Given the description of an element on the screen output the (x, y) to click on. 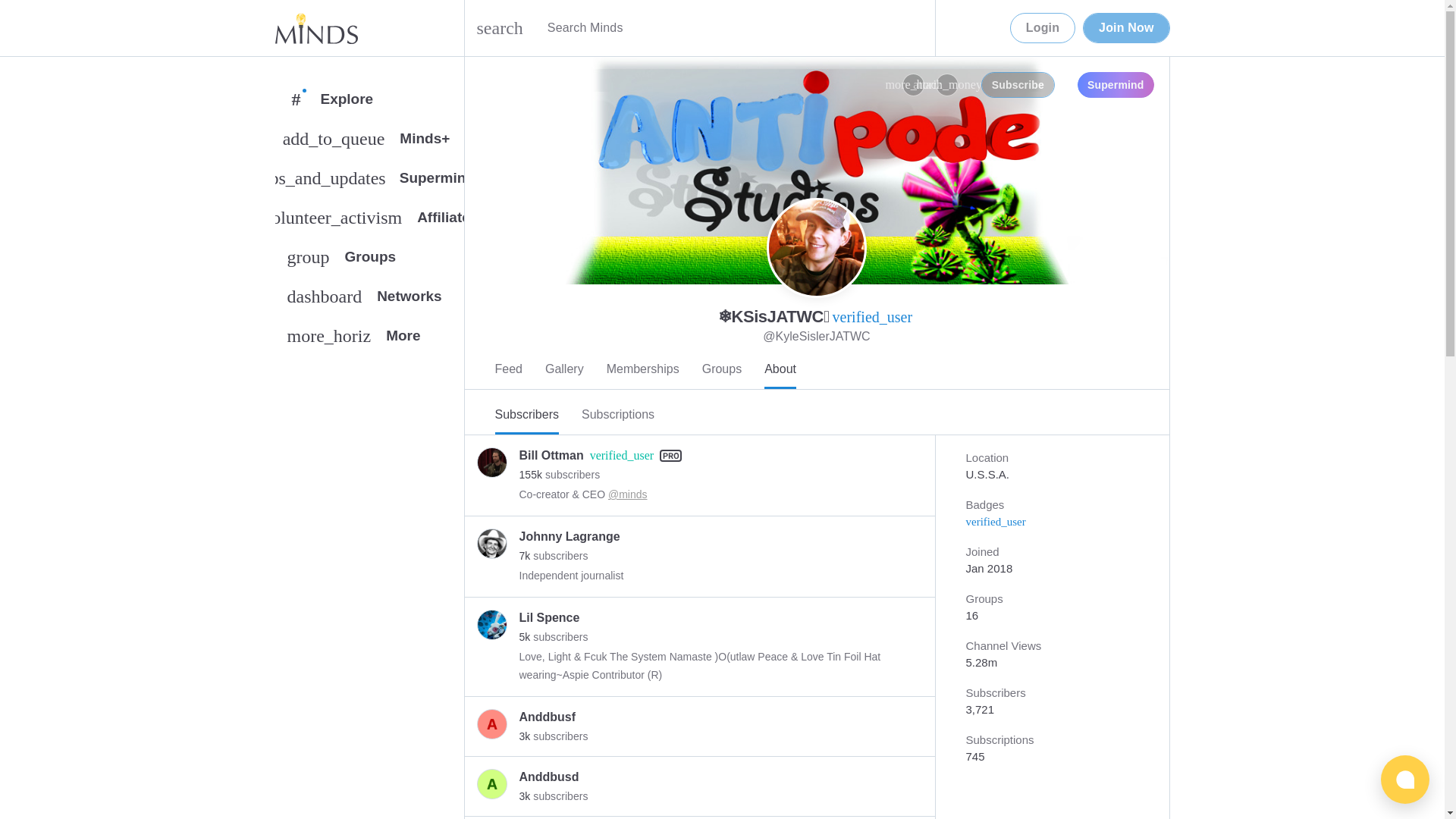
Groups (369, 299)
Join Now (721, 370)
5k subscribers (1126, 28)
Join Now (553, 636)
Anddbusf (1126, 28)
Memberships (548, 717)
Anddbusd (643, 370)
Lil Spence (549, 777)
Home (550, 617)
Subscribe (315, 28)
155k subscribers (1017, 84)
Login (558, 474)
Gallery (1042, 28)
7k subscribers (563, 370)
